Given the description of an element on the screen output the (x, y) to click on. 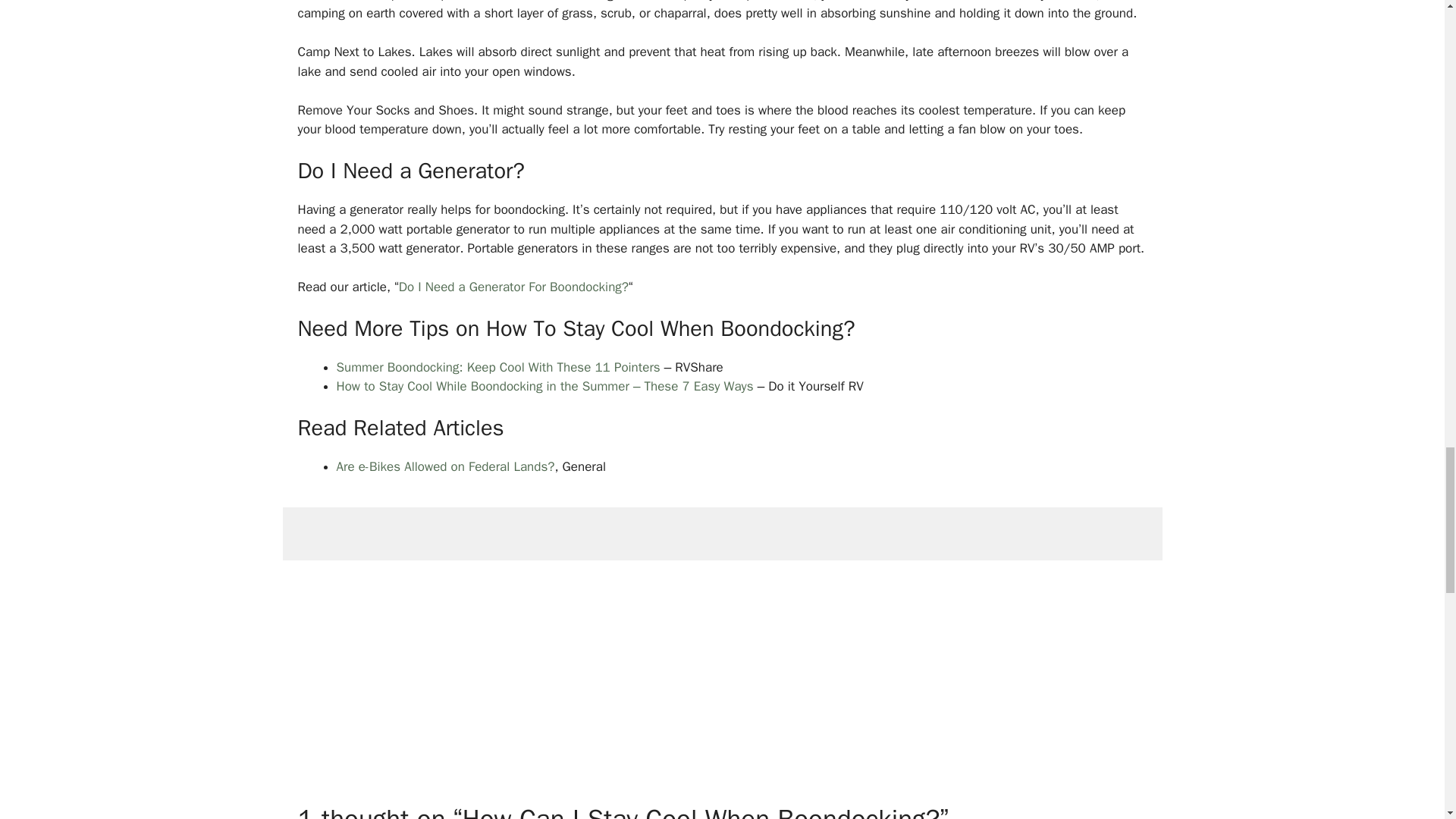
Summer Boondocking: Keep Cool With These 11 Pointers (498, 367)
Are e-Bikes Allowed on Federal Lands? (445, 466)
Do I Need a Generator For Boondocking? (513, 286)
